Given the description of an element on the screen output the (x, y) to click on. 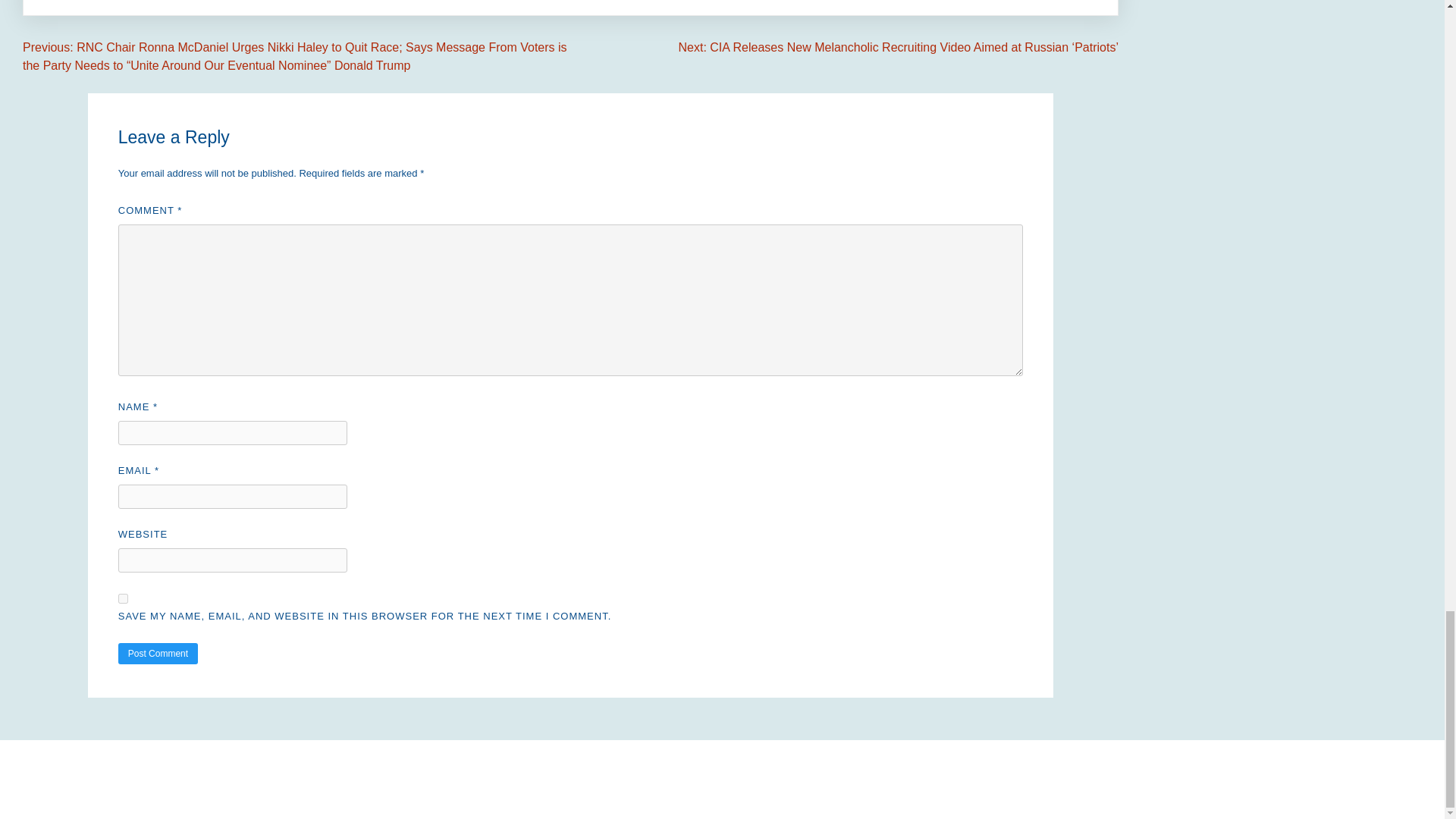
Post Comment (157, 653)
Post Comment (157, 653)
yes (122, 598)
